Given the description of an element on the screen output the (x, y) to click on. 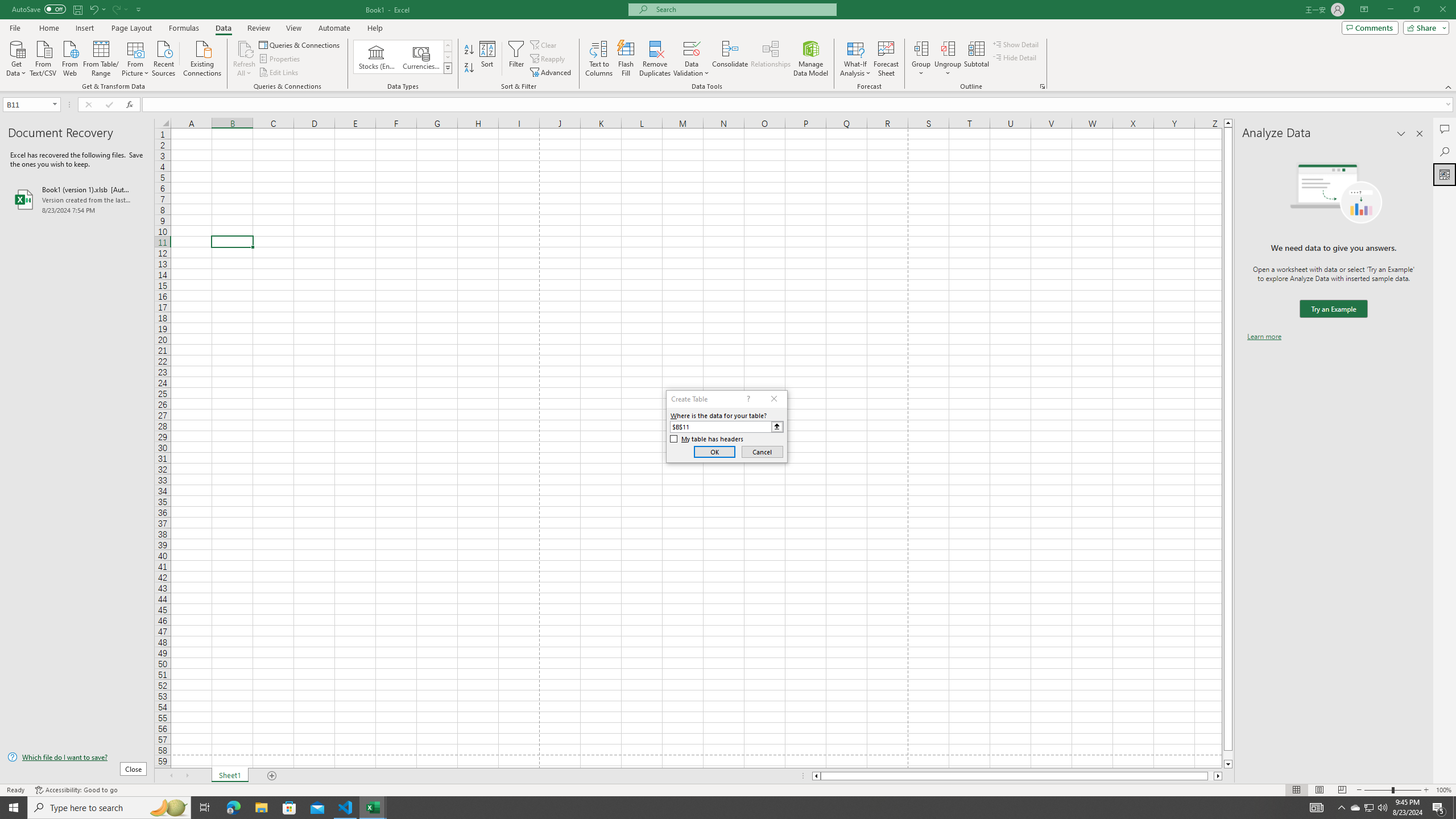
Properties (280, 58)
Filter (515, 58)
Sort A to Z (469, 49)
Edit Links (279, 72)
